Given the description of an element on the screen output the (x, y) to click on. 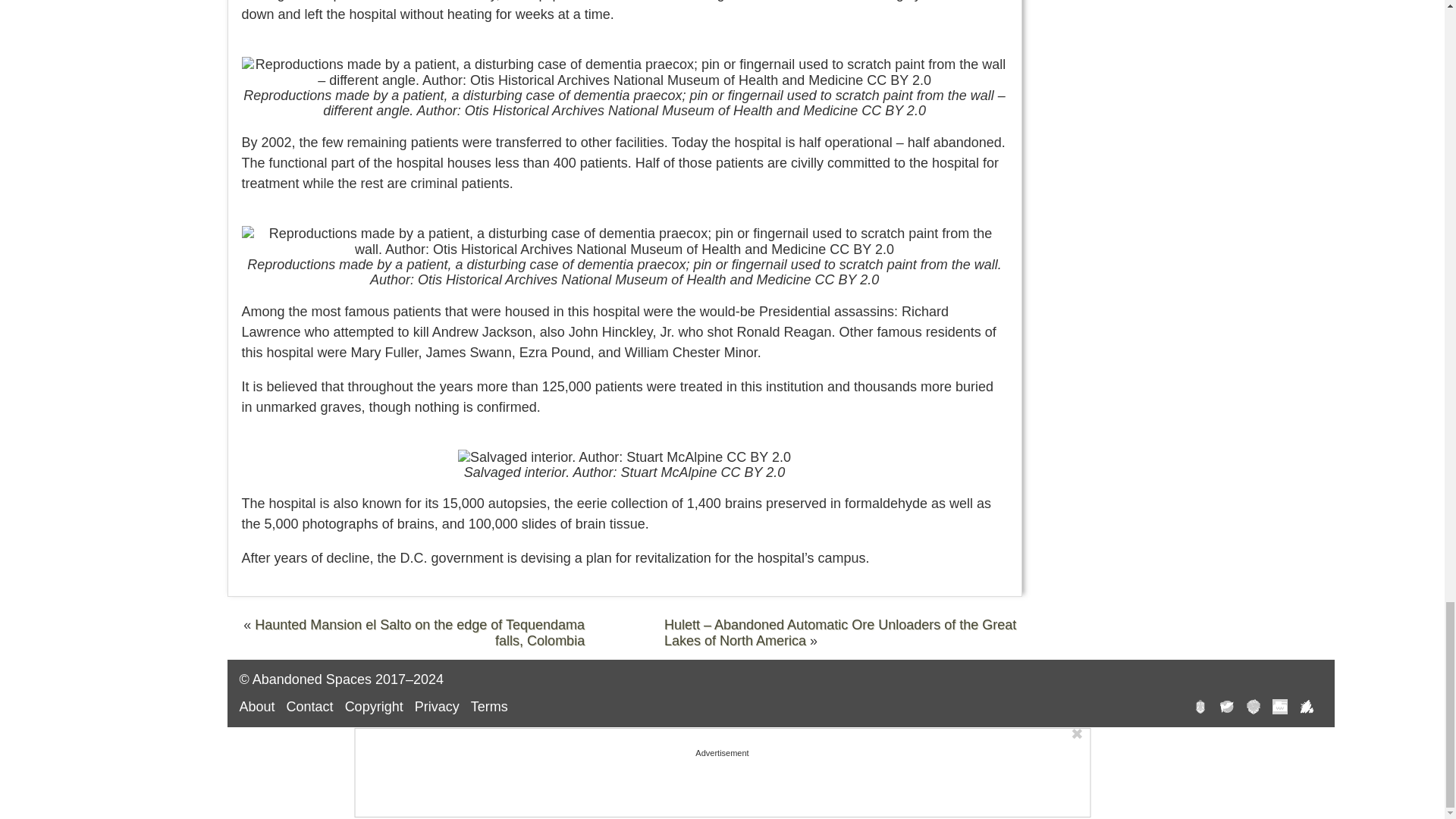
Privacy (437, 706)
About (257, 706)
Contact (309, 706)
Terms (489, 706)
Copyright (374, 706)
